Given the description of an element on the screen output the (x, y) to click on. 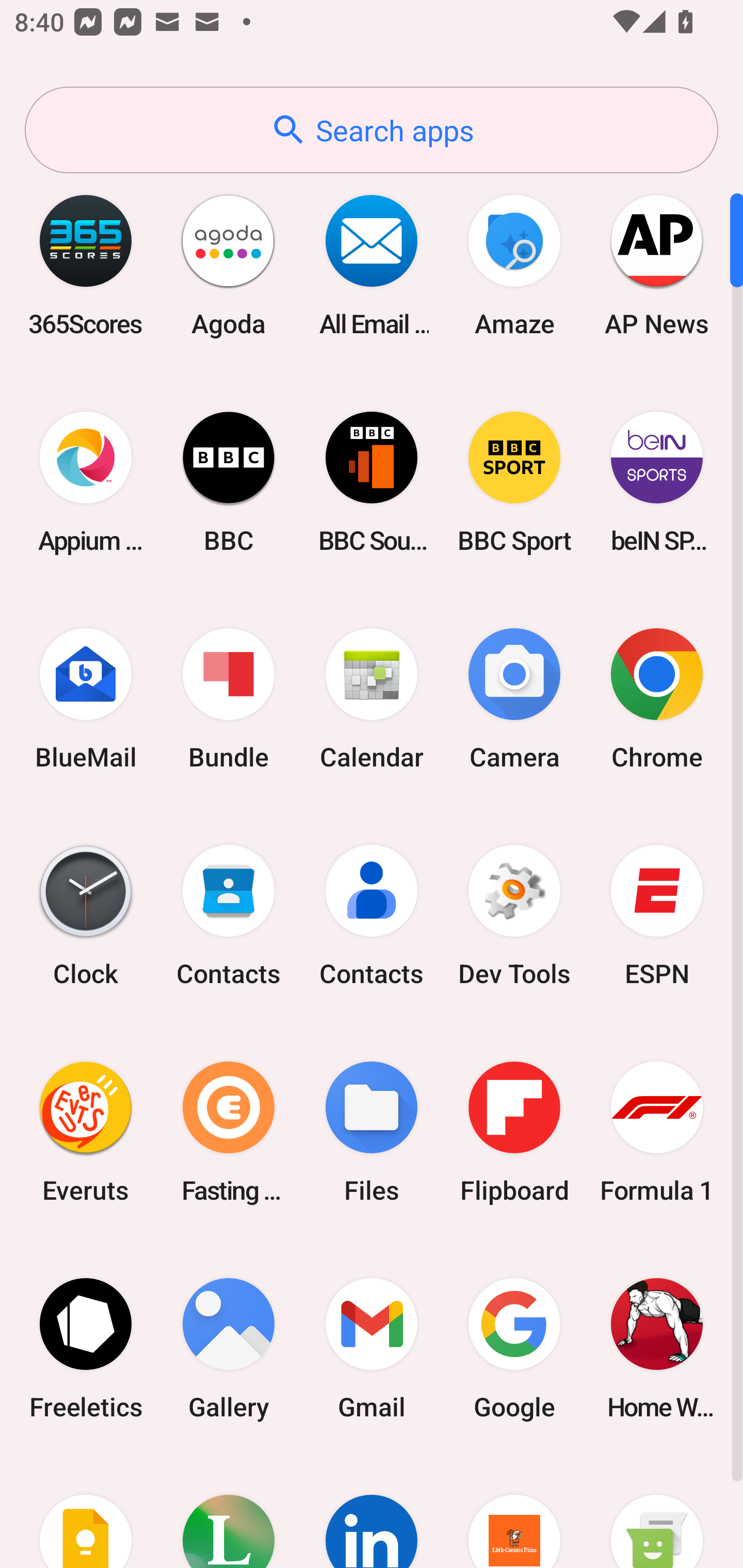
  Search apps (371, 130)
365Scores (85, 264)
Agoda (228, 264)
All Email Connect (371, 264)
Amaze (514, 264)
AP News (656, 264)
Appium Settings (85, 482)
BBC (228, 482)
BBC Sounds (371, 482)
BBC Sport (514, 482)
beIN SPORTS (656, 482)
BlueMail (85, 699)
Bundle (228, 699)
Calendar (371, 699)
Camera (514, 699)
Chrome (656, 699)
Clock (85, 915)
Contacts (228, 915)
Contacts (371, 915)
Dev Tools (514, 915)
ESPN (656, 915)
Everuts (85, 1131)
Fasting Coach (228, 1131)
Files (371, 1131)
Flipboard (514, 1131)
Formula 1 (656, 1131)
Freeletics (85, 1348)
Gallery (228, 1348)
Gmail (371, 1348)
Google (514, 1348)
Home Workout (656, 1348)
Keep Notes (85, 1512)
Lifesum (228, 1512)
LinkedIn (371, 1512)
Little Caesars Pizza (514, 1512)
Messaging (656, 1512)
